Given the description of an element on the screen output the (x, y) to click on. 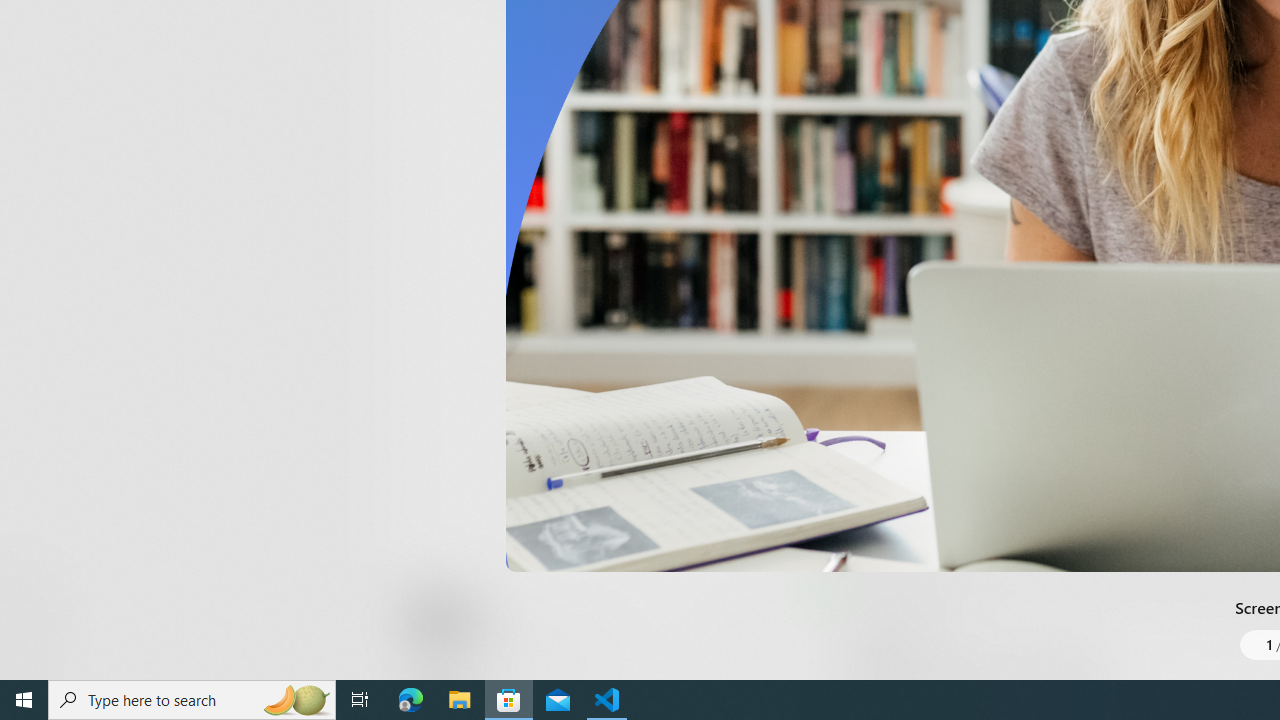
Social (579, 23)
Share (746, 632)
Show all ratings and reviews (838, 454)
Age rating: TEEN. Click for more information. (488, 619)
Show more (854, 31)
What's New (35, 578)
Library (35, 640)
